Given the description of an element on the screen output the (x, y) to click on. 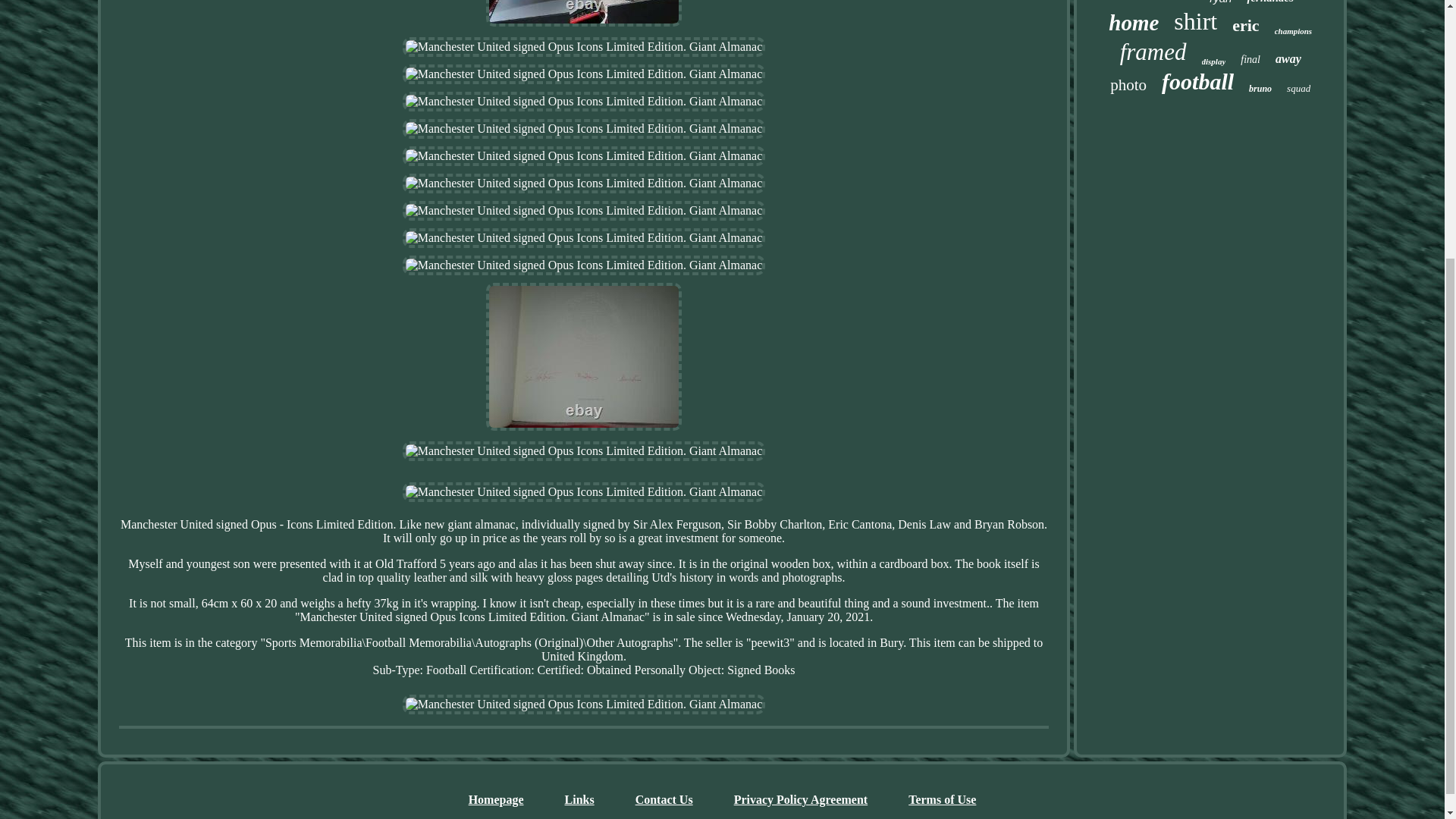
eric (1245, 25)
shirt (1195, 21)
